Given the description of an element on the screen output the (x, y) to click on. 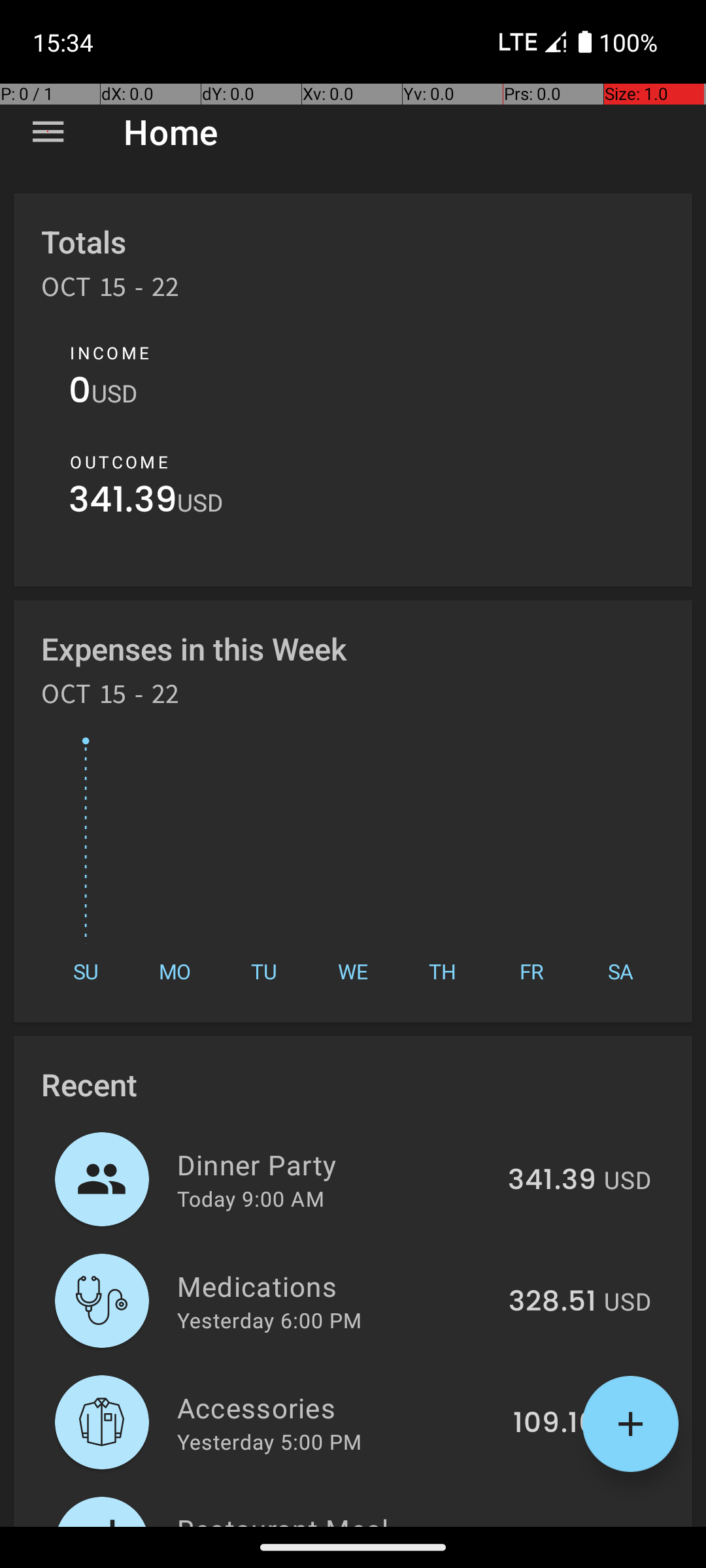
341.39 Element type: android.widget.TextView (122, 502)
Dinner Party Element type: android.widget.TextView (334, 1164)
Today 9:00 AM Element type: android.widget.TextView (250, 1198)
Medications Element type: android.widget.TextView (335, 1285)
Yesterday 6:00 PM Element type: android.widget.TextView (269, 1320)
328.51 Element type: android.widget.TextView (551, 1301)
Accessories Element type: android.widget.TextView (337, 1407)
Yesterday 5:00 PM Element type: android.widget.TextView (269, 1441)
109.16 Element type: android.widget.TextView (554, 1423)
Restaurant Meal Element type: android.widget.TextView (332, 1518)
287.92 Element type: android.widget.TextView (549, 1524)
